Given the description of an element on the screen output the (x, y) to click on. 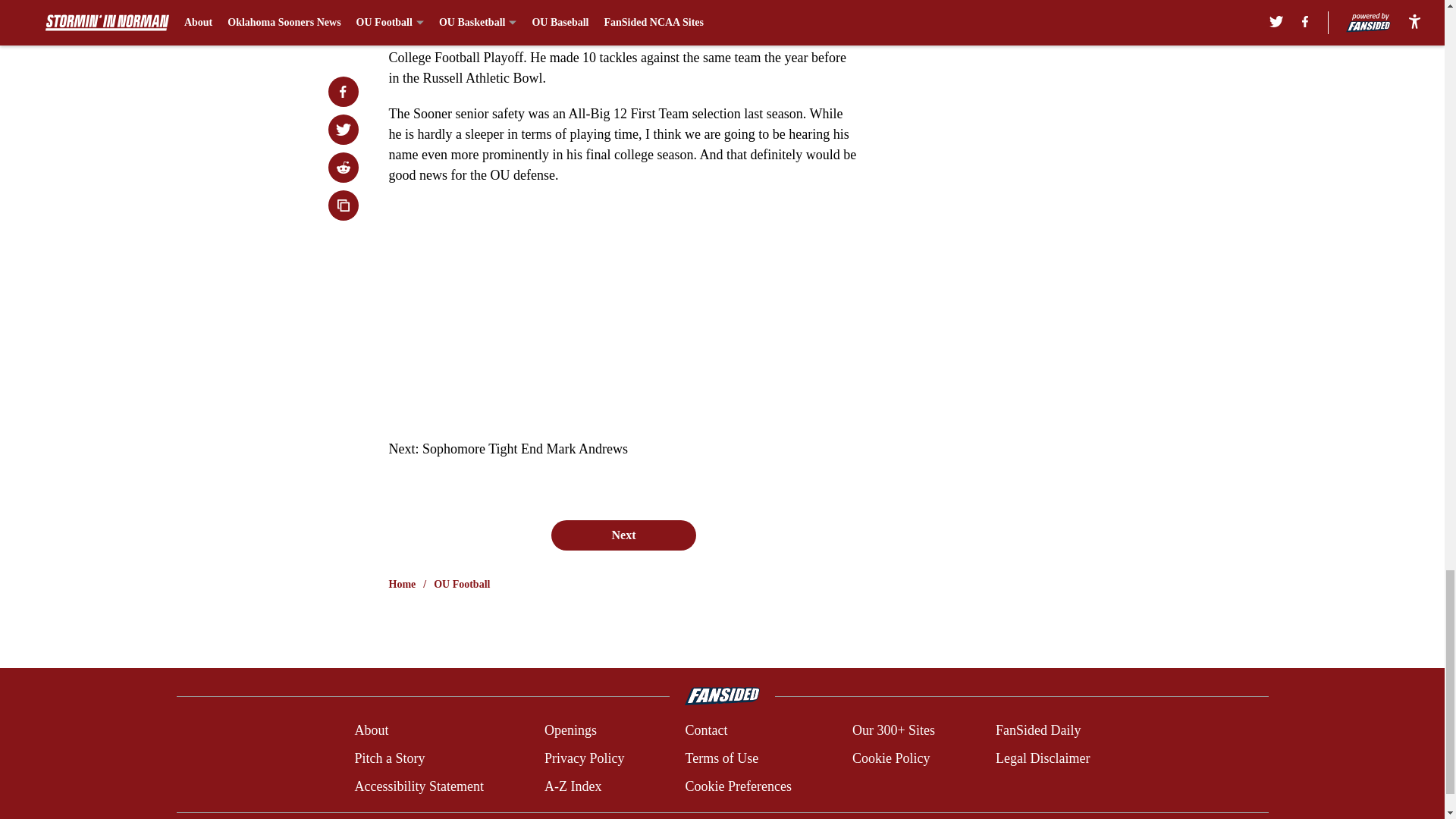
Contact (705, 730)
Cookie Policy (890, 758)
About (370, 730)
OU Football (461, 584)
Legal Disclaimer (1042, 758)
Privacy Policy (584, 758)
Next (622, 535)
Openings (570, 730)
Home (401, 584)
Pitch a Story (389, 758)
